Given the description of an element on the screen output the (x, y) to click on. 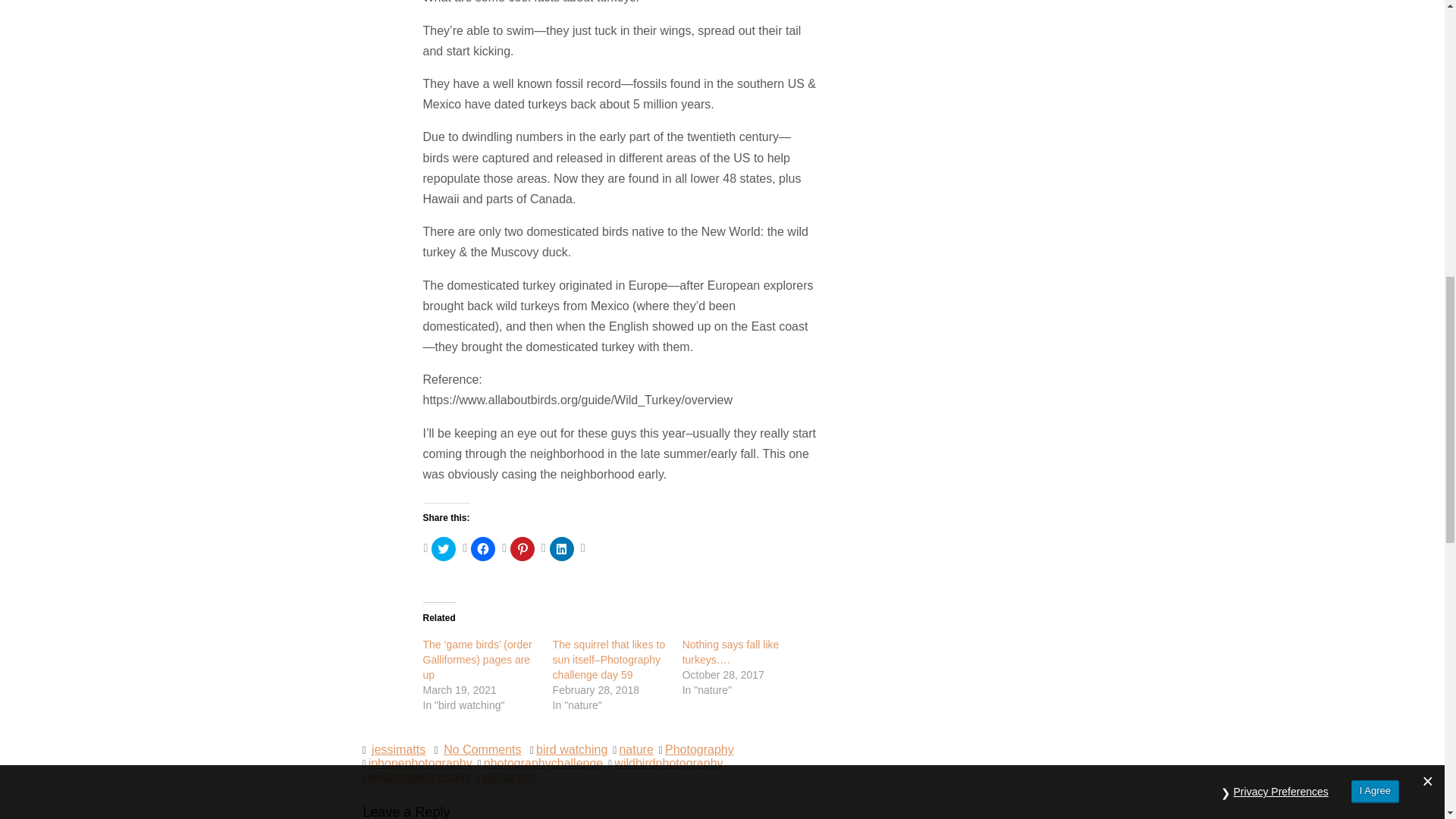
Click to share on Twitter (442, 549)
Posts by jessimatts (398, 748)
Click to share on Pinterest (522, 549)
Click to share on Facebook (482, 549)
Click to share on LinkedIn (561, 549)
